Given the description of an element on the screen output the (x, y) to click on. 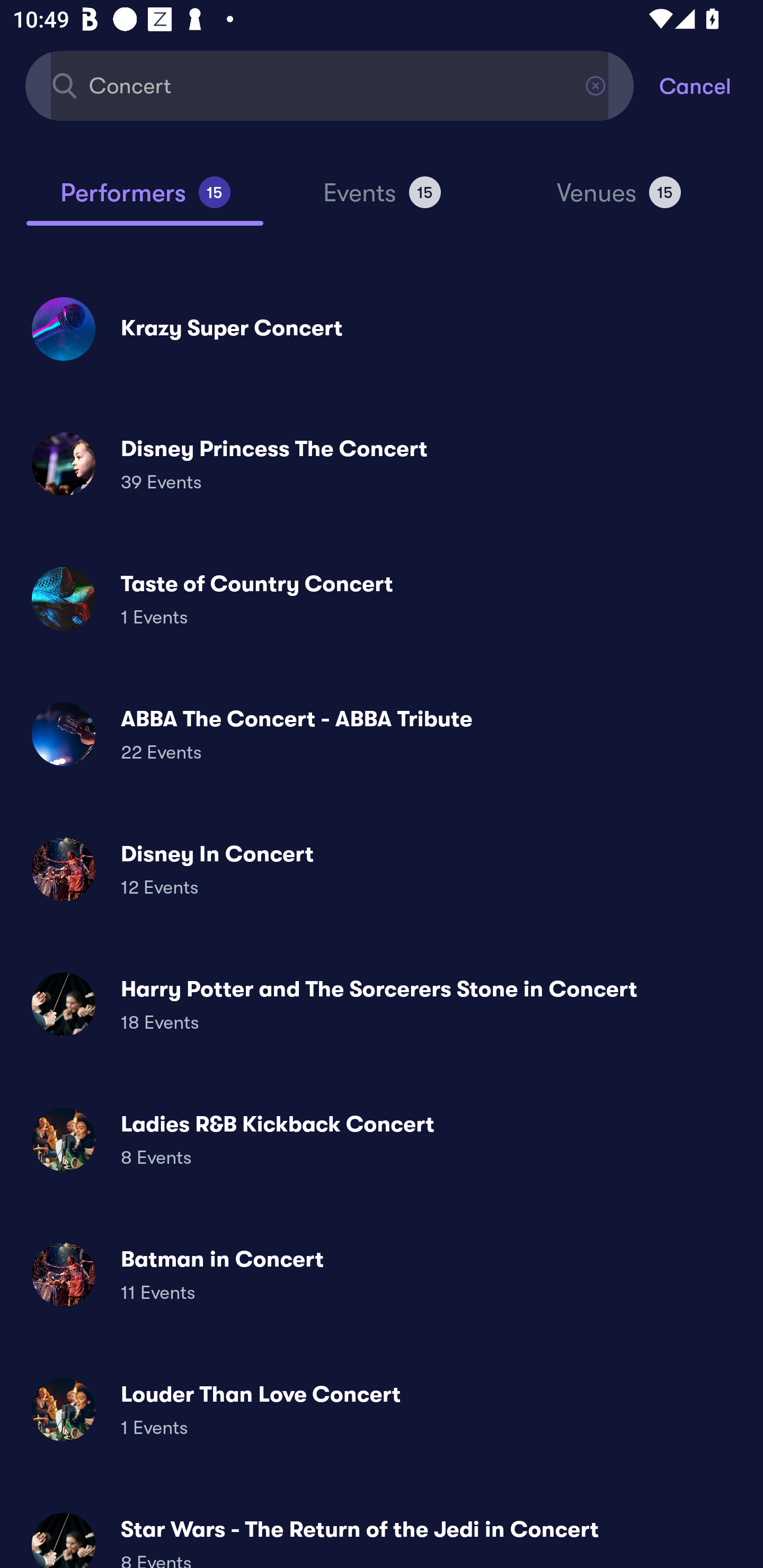
Concert Find (329, 85)
Concert Find (329, 85)
Cancel (711, 85)
Performers 15 (144, 200)
Events 15 (381, 200)
Venues 15 (618, 200)
Krazy Super Concert (381, 328)
Disney Princess The Concert 39 Events (381, 464)
Taste of Country Concert 1 Events (381, 598)
ABBA The Concert - ABBA Tribute 22 Events (381, 734)
Disney In Concert 12 Events (381, 869)
Ladies R&B Kickback Concert 8 Events (381, 1138)
Batman in Concert 11 Events (381, 1273)
Louder Than Love Concert 1 Events (381, 1409)
